Given the description of an element on the screen output the (x, y) to click on. 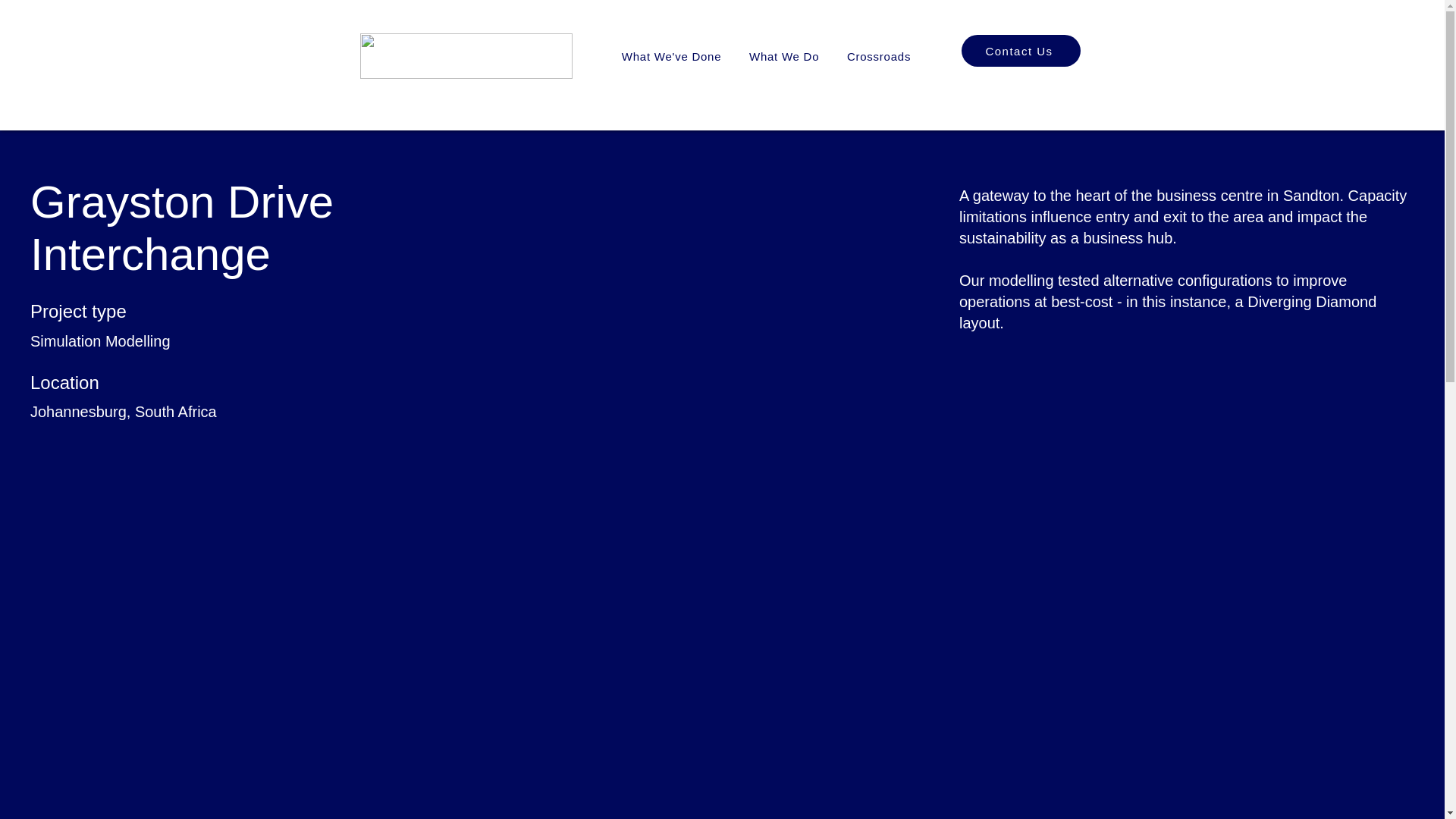
What We Do (783, 56)
What We've Done (671, 56)
Contact Us (1020, 50)
Crossroads (878, 56)
